Given the description of an element on the screen output the (x, y) to click on. 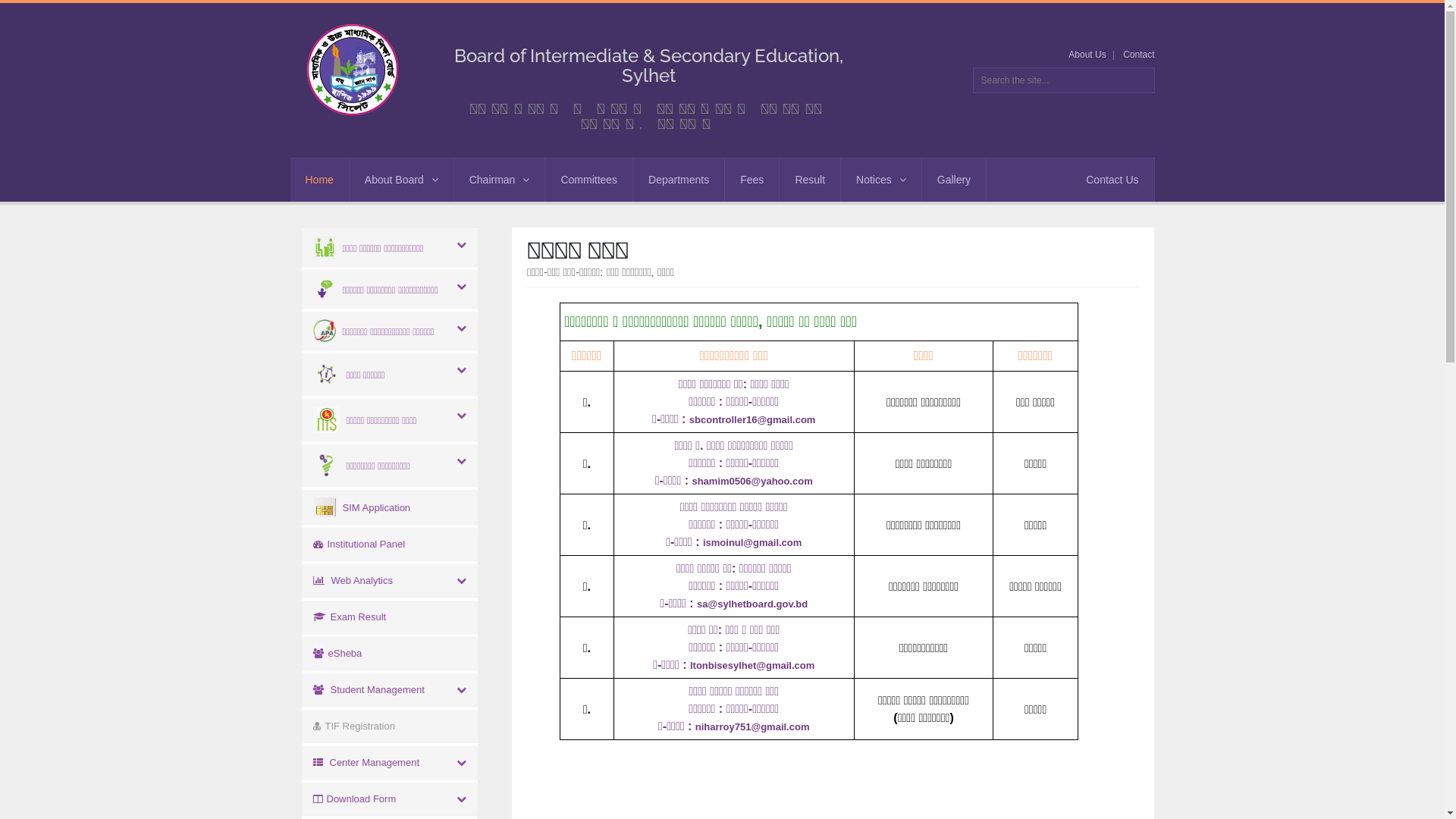
Committees Element type: text (588, 179)
About Board Element type: text (401, 179)
  TIF Registration Element type: text (353, 725)
Contact Us Element type: text (1111, 179)
Home Element type: text (318, 179)
   Web Analytics Element type: text (352, 580)
  eSheba Element type: text (336, 652)
Result Element type: text (809, 179)
Contact Element type: text (1138, 54)
Departments Element type: text (678, 179)
Notices Element type: text (880, 179)
Chairman Element type: text (499, 179)
  Institutional Panel Element type: text (358, 543)
   Student Management Element type: text (367, 689)
Search the site... Element type: hover (1063, 80)
Fees Element type: text (751, 179)
  Exam Result Element type: text (348, 616)
About Us Element type: text (1086, 54)
   SIM Application Element type: text (361, 507)
Gallery Element type: text (953, 179)
   Center Management Element type: text (365, 762)
  Download Form Element type: text (353, 798)
